Given the description of an element on the screen output the (x, y) to click on. 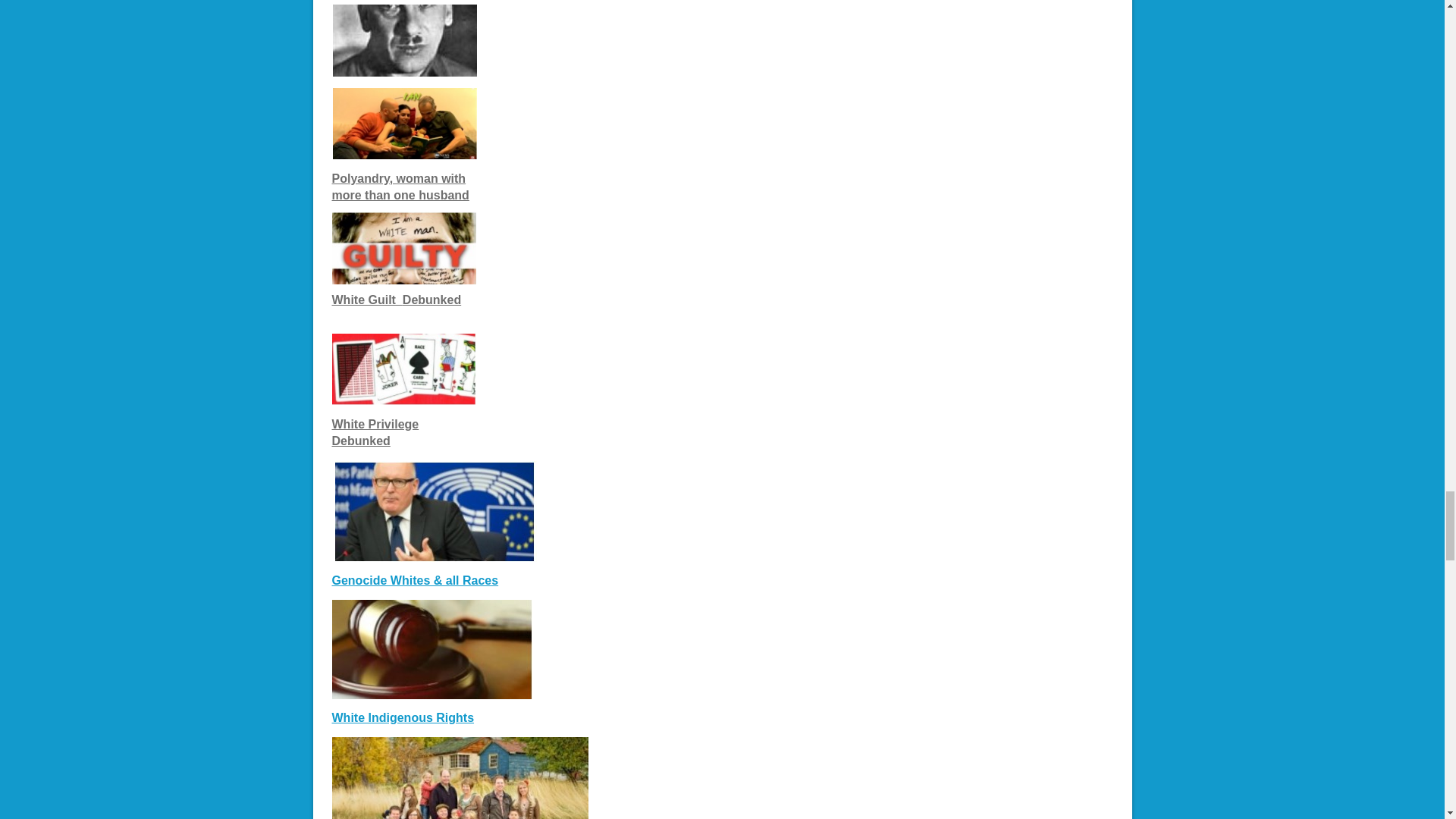
White Guilt Exposed (432, 299)
Polyandry, woman with more than one husband (399, 186)
White Guilt Exposed (367, 299)
White Indigenous Rights (402, 717)
White Privilege Debunked (375, 432)
